Given the description of an element on the screen output the (x, y) to click on. 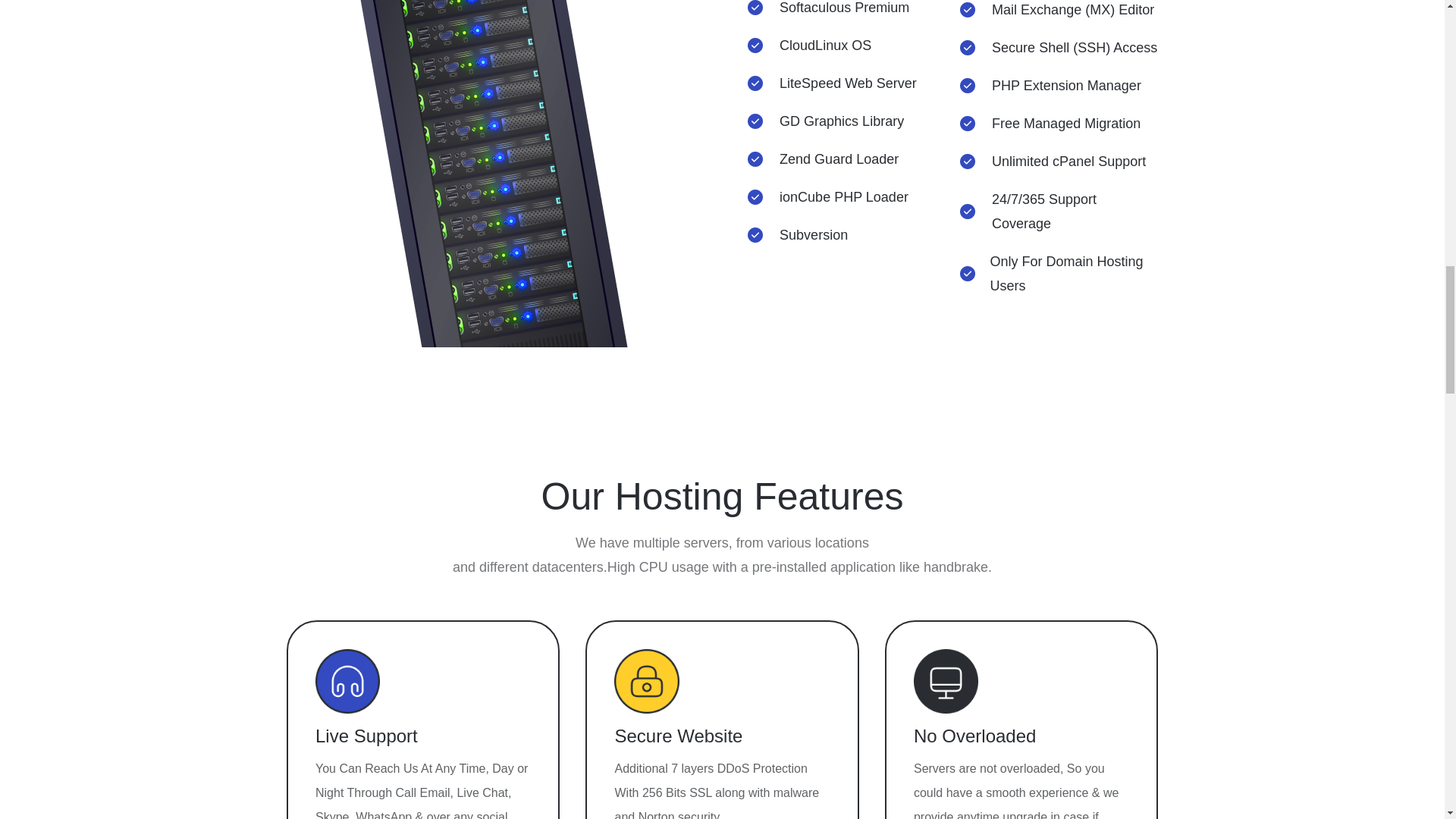
hero-img-complete (491, 173)
Icon-1 (347, 681)
Icon-4 (946, 681)
Icon-2 (646, 681)
